Given the description of an element on the screen output the (x, y) to click on. 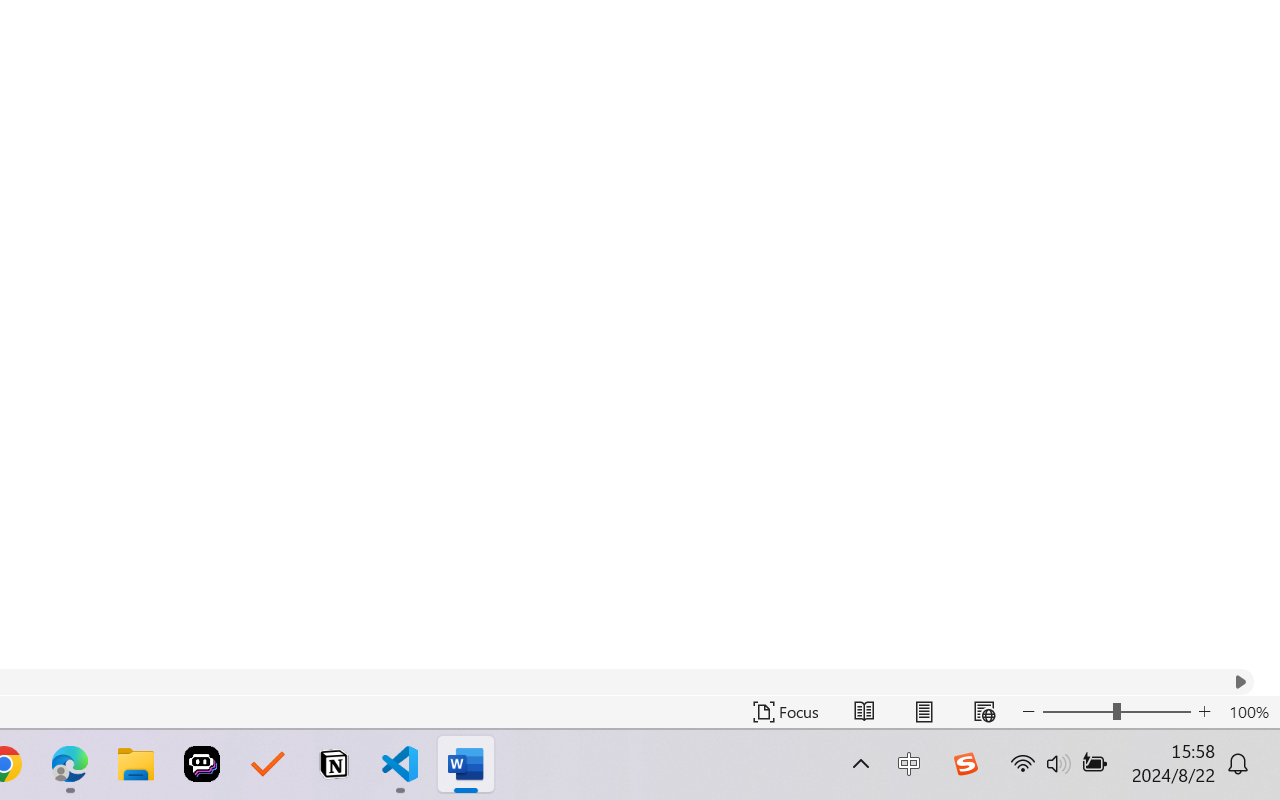
Read Mode (864, 712)
Web Layout (984, 712)
Print Layout (924, 712)
Zoom In (1204, 712)
Focus  (786, 712)
Zoom (1116, 712)
Class: Image (965, 764)
Zoom Out (1077, 712)
Column right (1240, 681)
Zoom 100% (1249, 712)
